Given the description of an element on the screen output the (x, y) to click on. 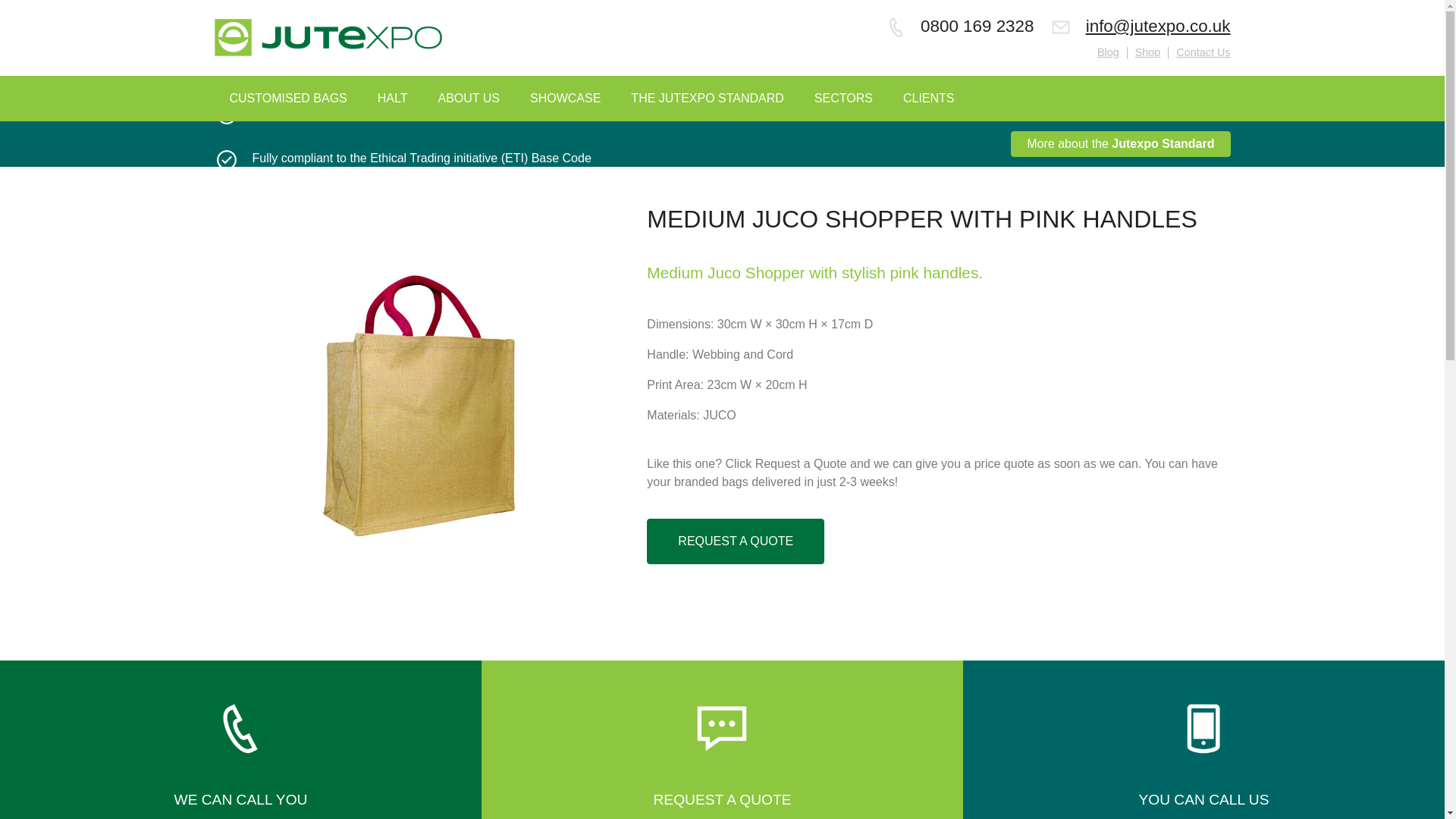
HALT (392, 98)
Back to Jutexpo home page (327, 37)
Contact Us (1203, 51)
Blog (1108, 51)
SHOWCASE (565, 98)
CUSTOMISED BAGS (287, 98)
Jutexpo (327, 37)
THE JUTEXPO STANDARD (707, 98)
ABOUT US (469, 98)
Shop (1147, 51)
SECTORS (843, 98)
